Given the description of an element on the screen output the (x, y) to click on. 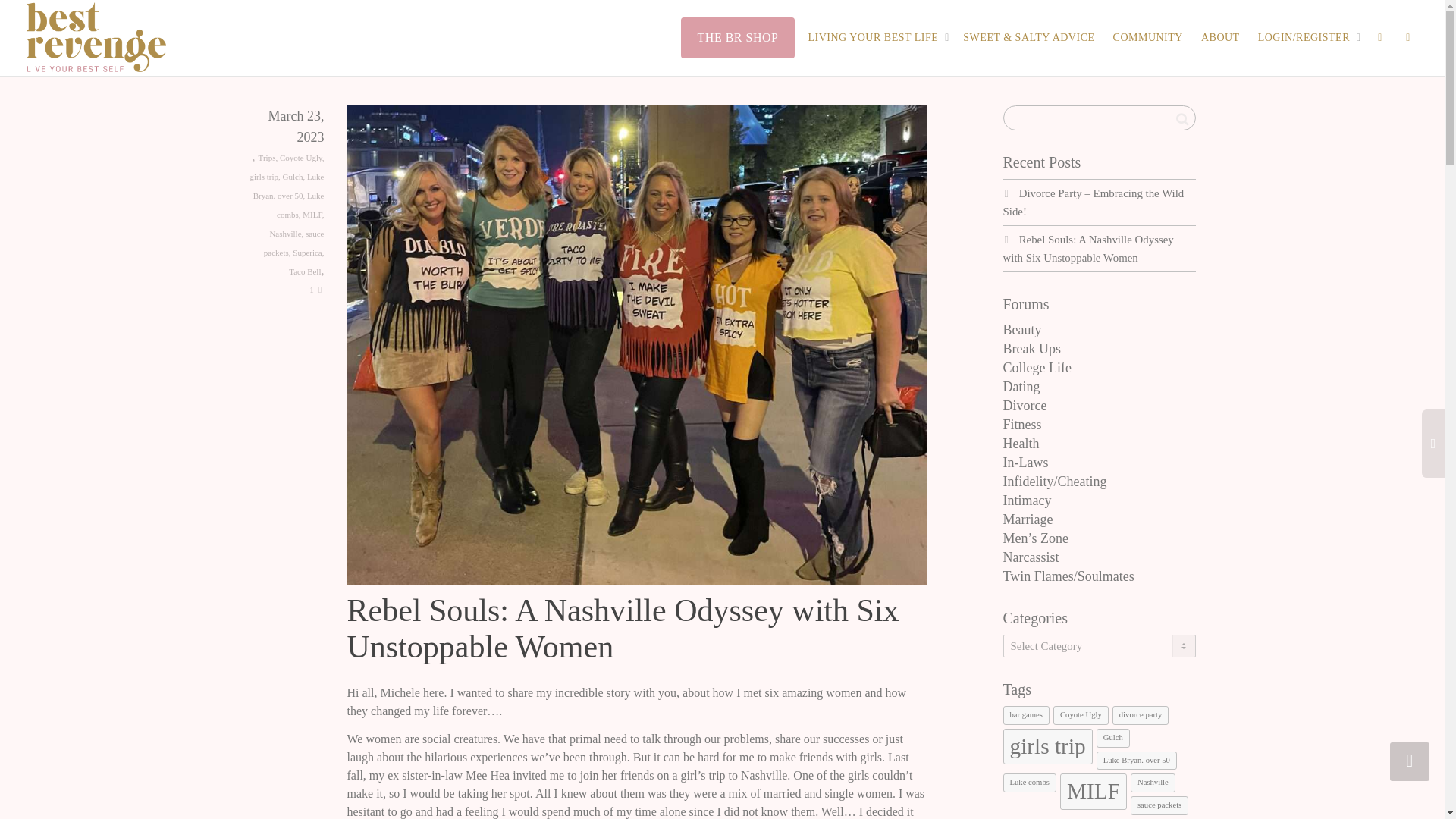
THE BR SHOP (737, 37)
Gulch (292, 175)
Search (1181, 117)
Best Revenge (95, 37)
Trips (267, 157)
MILF (311, 214)
THE BR SHOP (737, 37)
Taco Bell (304, 271)
Luke combs (299, 204)
March 23, 2023 (286, 138)
girls trip (263, 175)
Search (1181, 117)
Luke Bryan. over 50 (288, 185)
Nashville (285, 233)
sauce packets (293, 243)
